Given the description of an element on the screen output the (x, y) to click on. 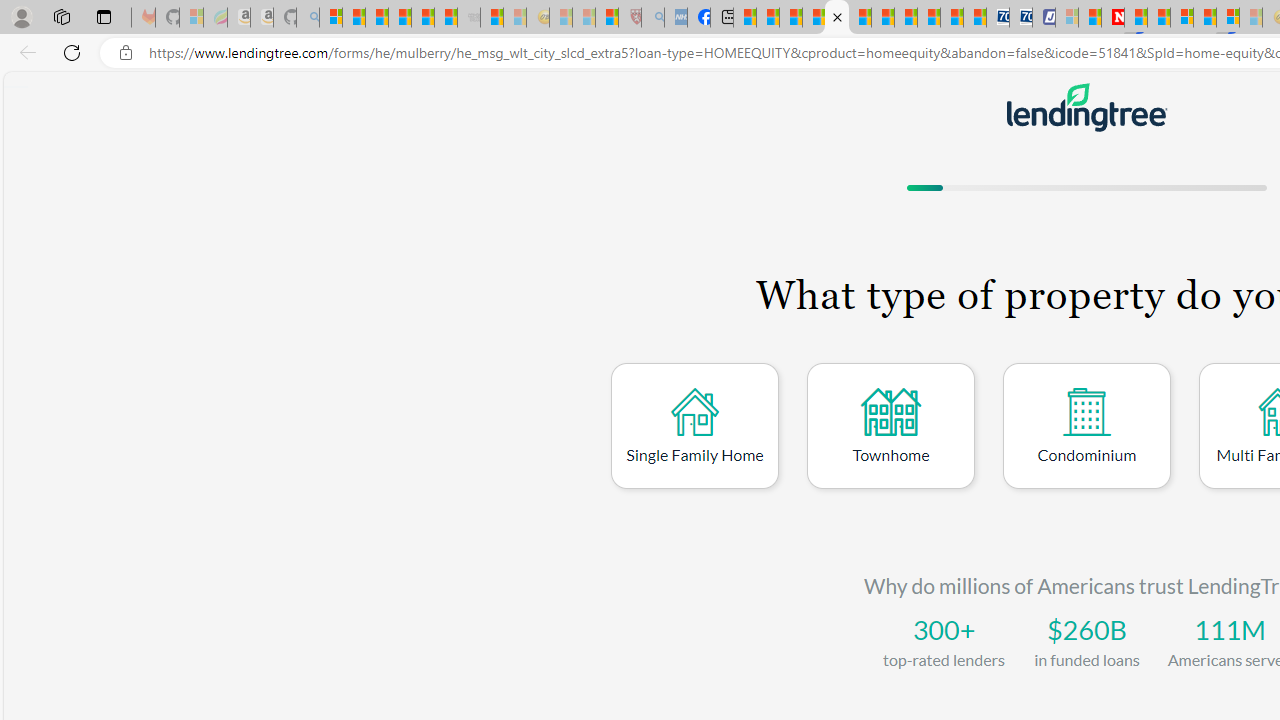
LendingTree - Compare Lenders (836, 17)
Cheap Hotels - Save70.com (1020, 17)
